Given the description of an element on the screen output the (x, y) to click on. 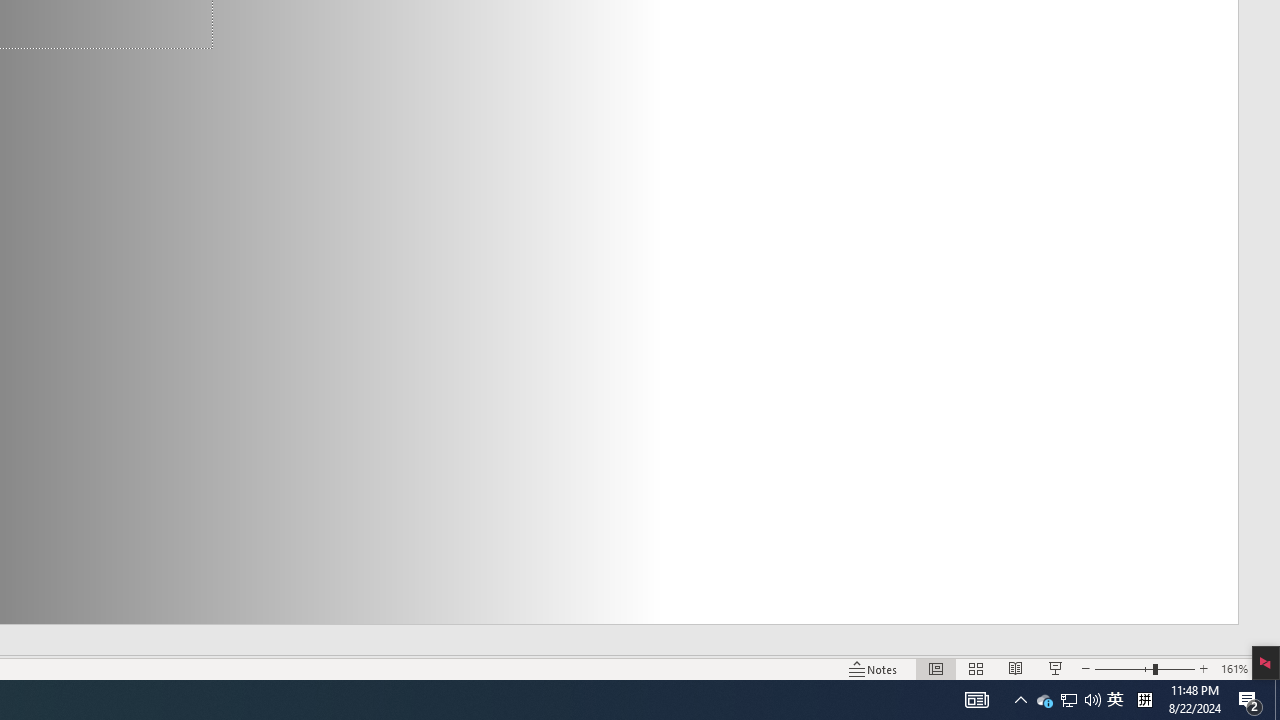
Zoom 161% (1234, 668)
